Given the description of an element on the screen output the (x, y) to click on. 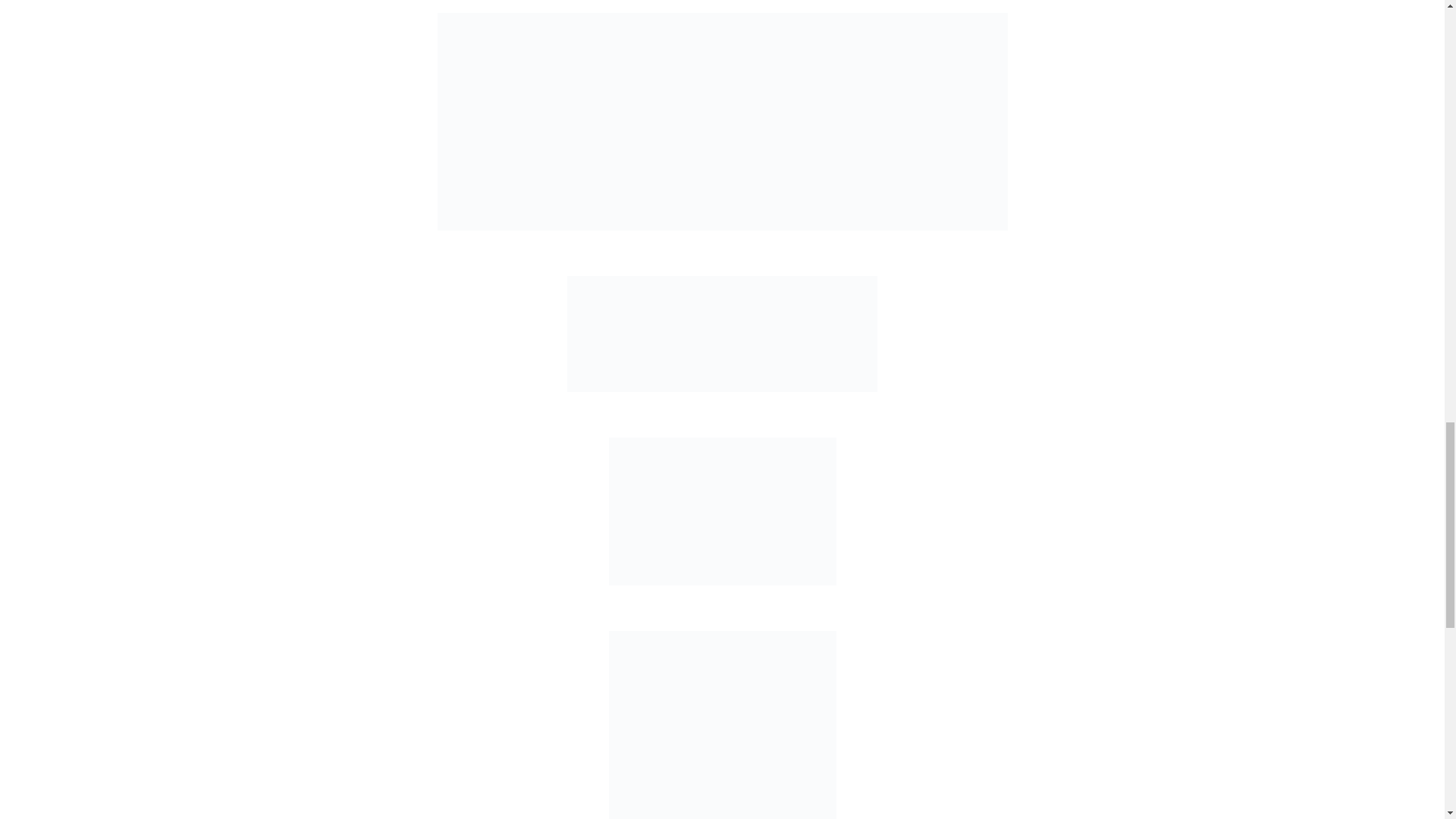
Orangevale Fair Oaks Food Bank (722, 334)
Sunrise Food Ministry (721, 121)
Union-Gospel-Mission (721, 511)
